Given the description of an element on the screen output the (x, y) to click on. 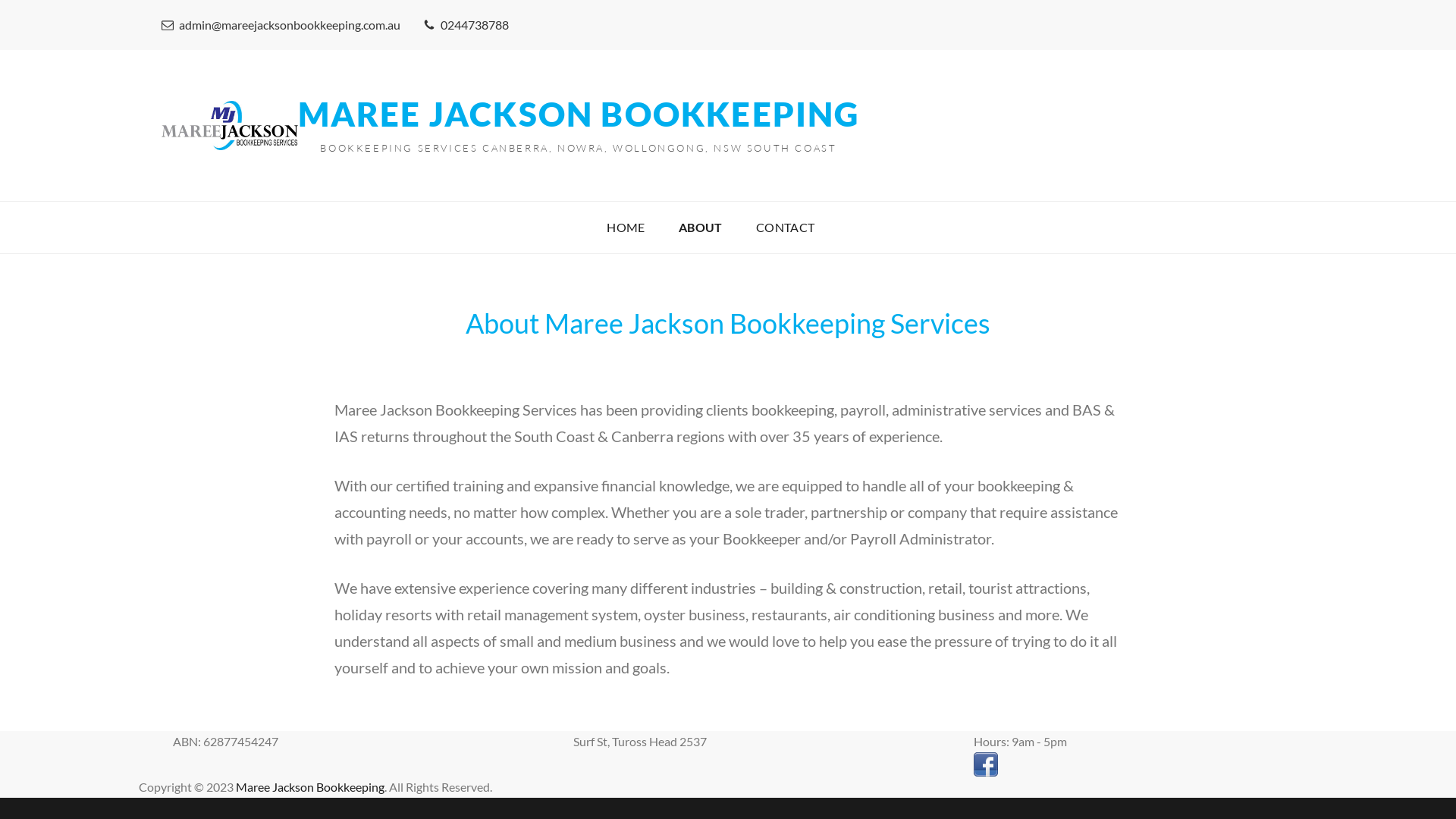
HOME Element type: text (625, 227)
CONTACT Element type: text (785, 227)
ABOUT Element type: text (700, 227)
Maree Jackson Bookkeeping Element type: text (309, 786)
admin@mareejacksonbookkeeping.com.au Element type: text (279, 24)
MAREE JACKSON BOOKKEEPING Element type: text (578, 113)
0244738788 Element type: text (465, 24)
